Given the description of an element on the screen output the (x, y) to click on. 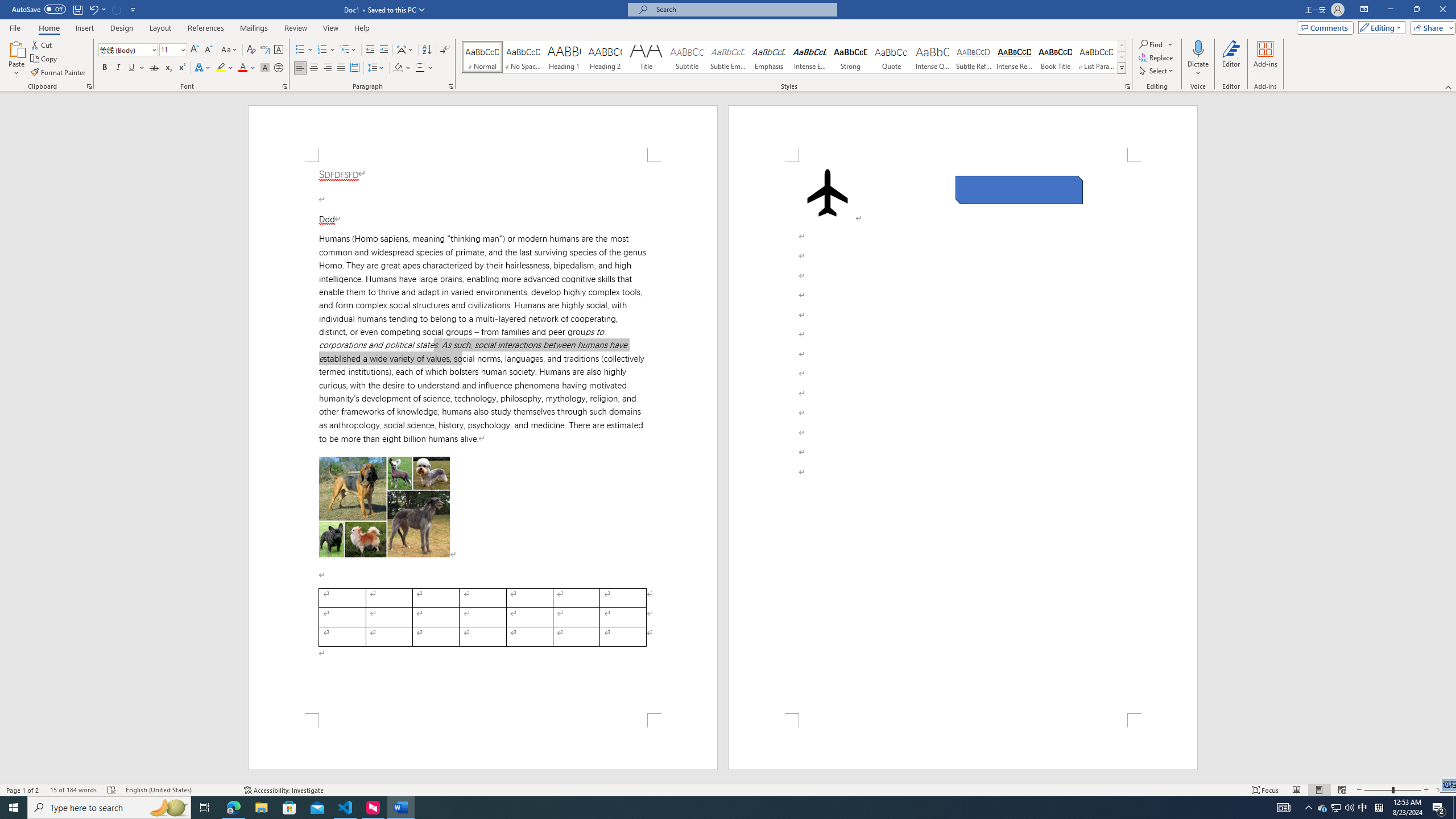
Bullets (300, 49)
Emphasis (768, 56)
Paragraph... (450, 85)
Align Left (300, 67)
Dictate (1197, 58)
Styles... (1127, 85)
Center (313, 67)
Font Size (169, 49)
Italic (118, 67)
Distributed (354, 67)
Zoom Out (1377, 790)
Enclose Characters... (278, 67)
Font Color (246, 67)
